Given the description of an element on the screen output the (x, y) to click on. 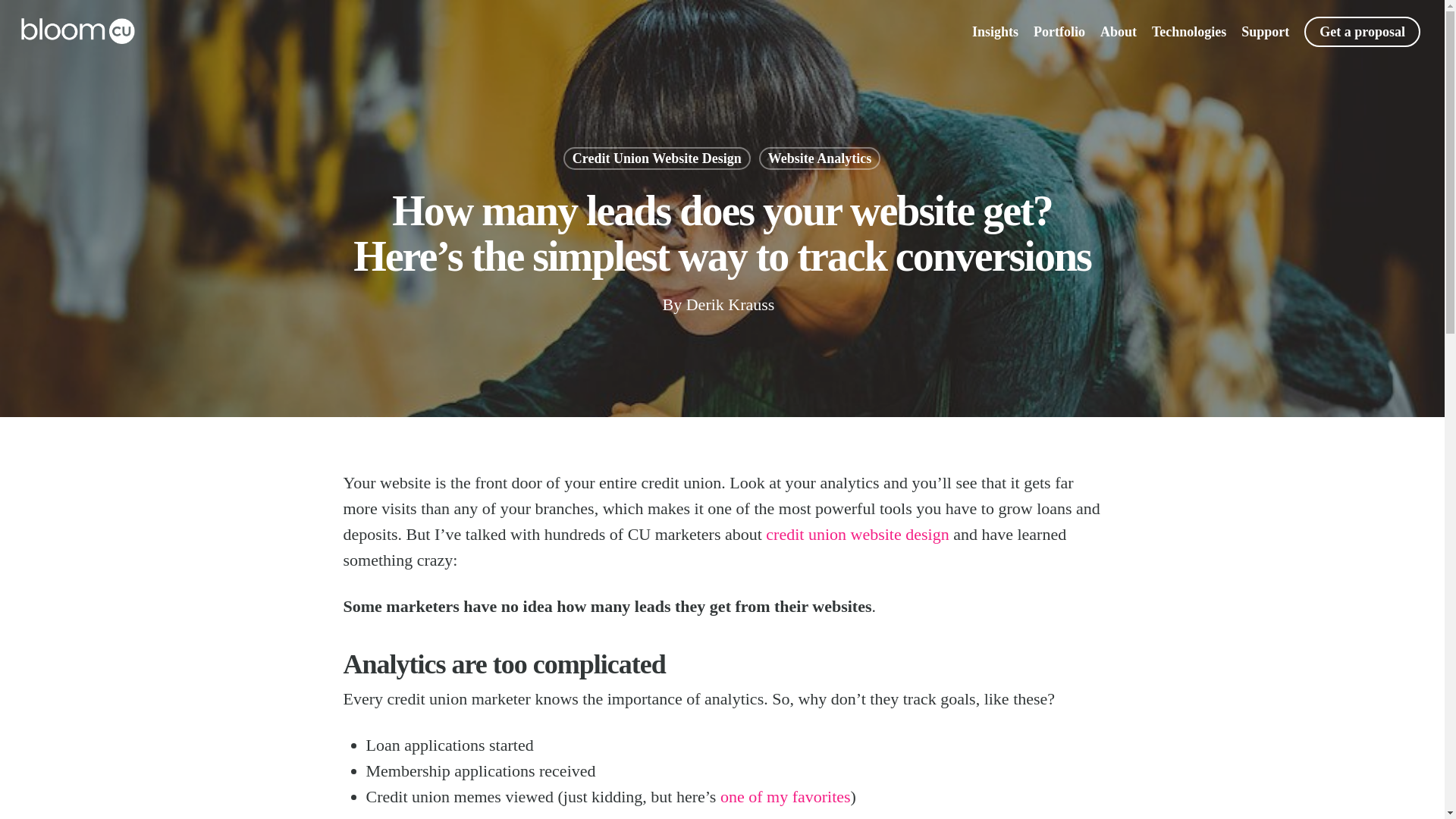
credit union website design (857, 533)
Credit Union Website Design (657, 158)
one of my favorites (785, 796)
Get a proposal (1362, 30)
Insights (994, 30)
Derik Krauss (729, 303)
About (1118, 30)
Support (1264, 30)
Website Analytics (819, 158)
Technologies (1188, 30)
